Given the description of an element on the screen output the (x, y) to click on. 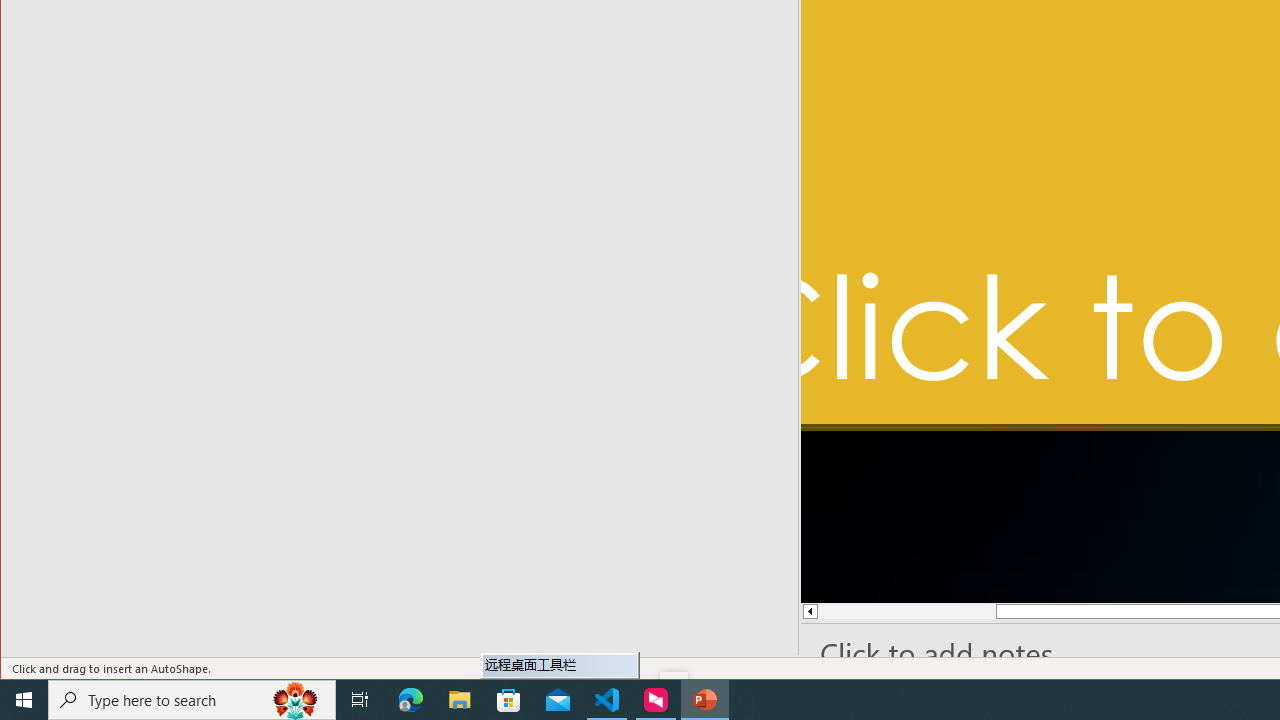
Start (24, 699)
Microsoft Edge (411, 699)
Search highlights icon opens search home window (295, 699)
Task View (359, 699)
File Explorer (460, 699)
Type here to search (191, 699)
Microsoft Store (509, 699)
PowerPoint - 1 running window (704, 699)
Visual Studio Code - 1 running window (607, 699)
